Given the description of an element on the screen output the (x, y) to click on. 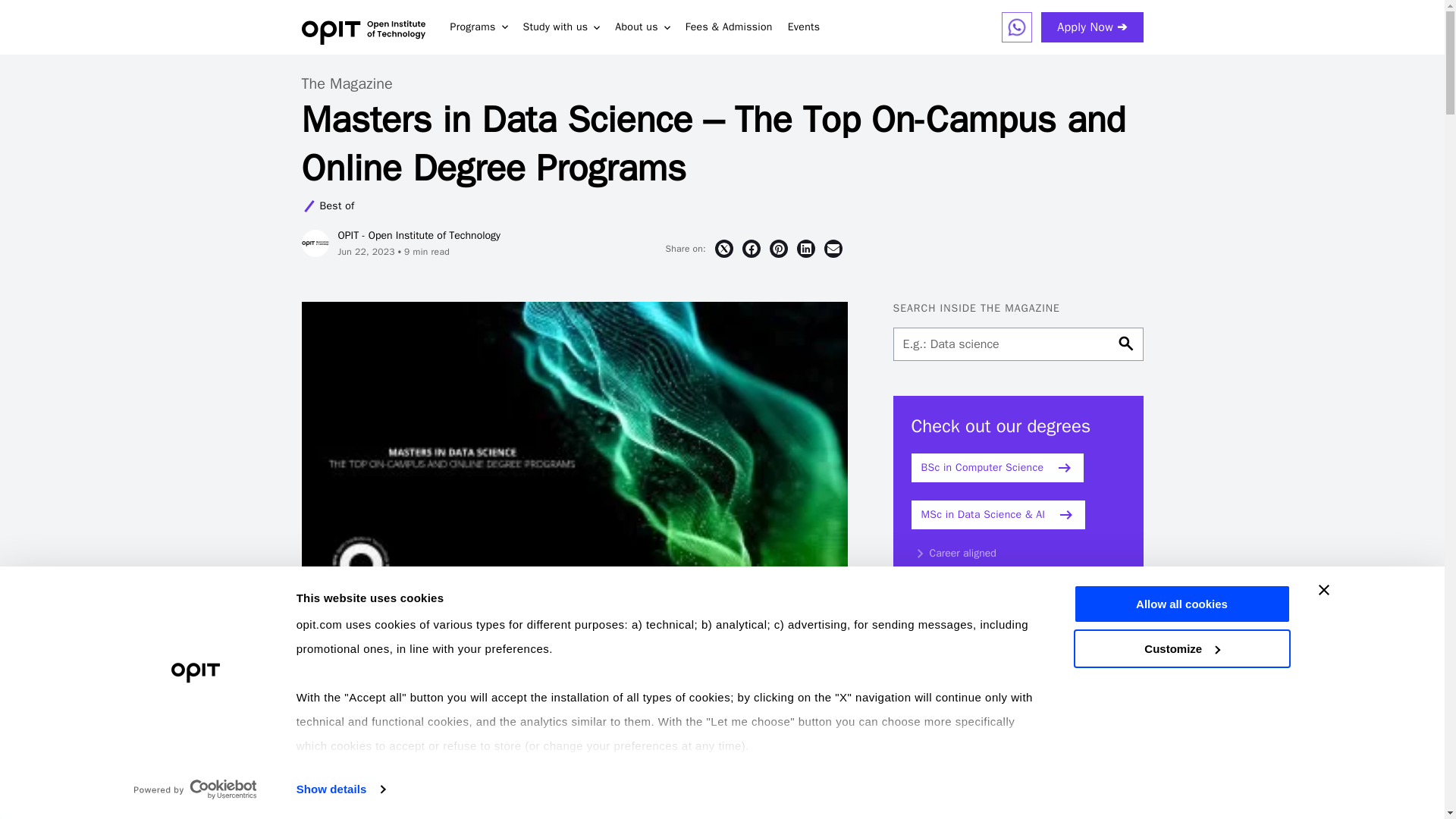
extended Cookie Policy (790, 793)
Show details (340, 789)
